Given the description of an element on the screen output the (x, y) to click on. 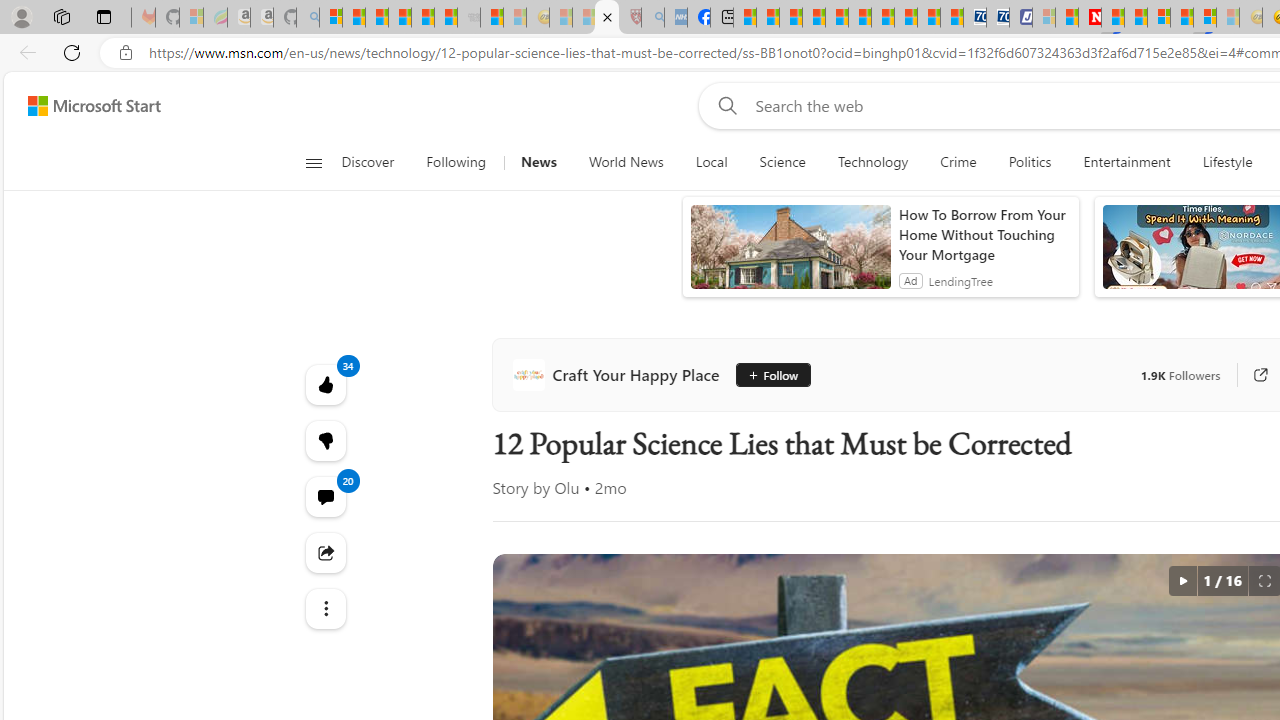
34 Like (324, 384)
anim-content (789, 255)
Follow (772, 374)
